Given the description of an element on the screen output the (x, y) to click on. 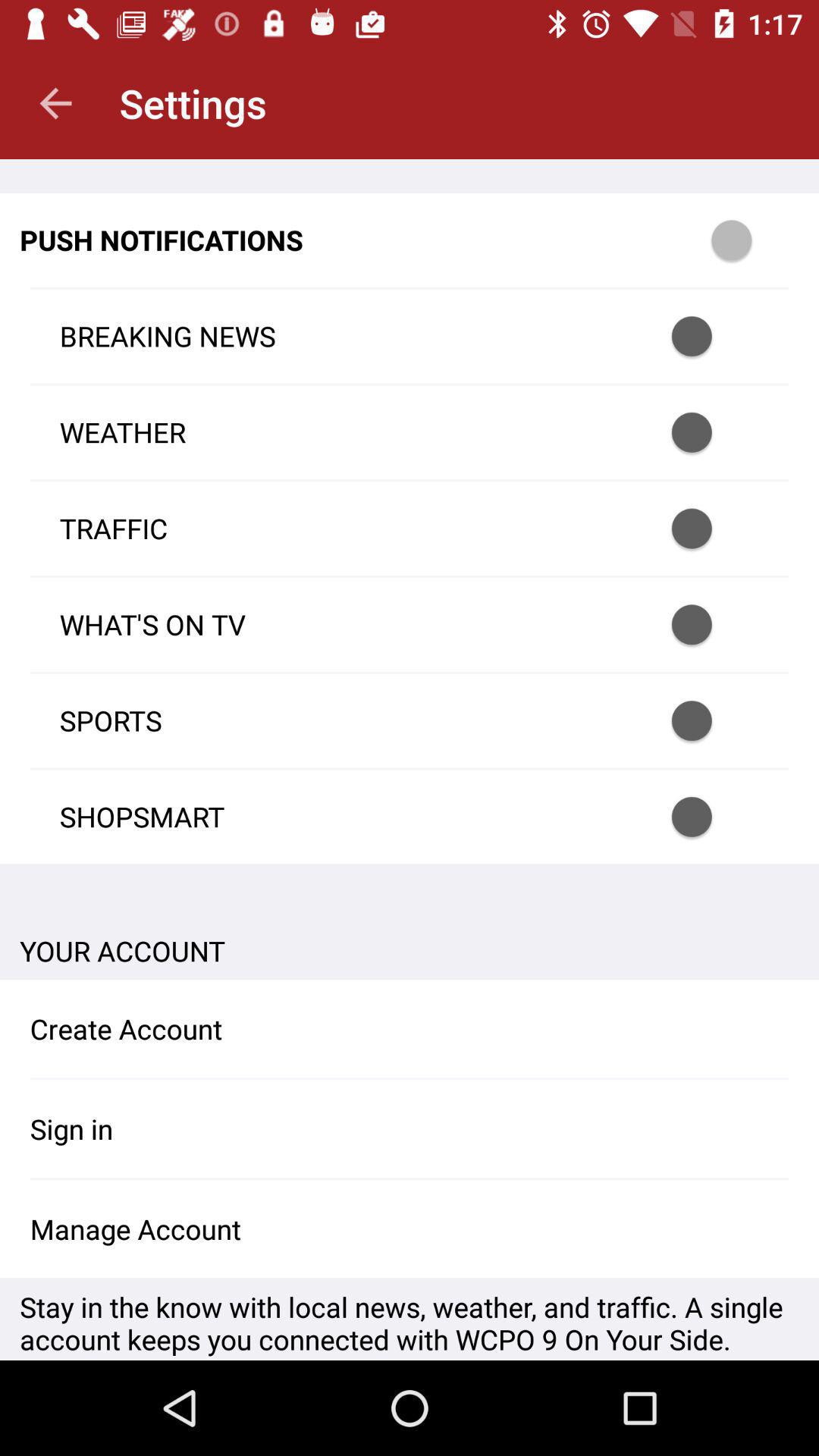
turn on push notification (711, 816)
